Given the description of an element on the screen output the (x, y) to click on. 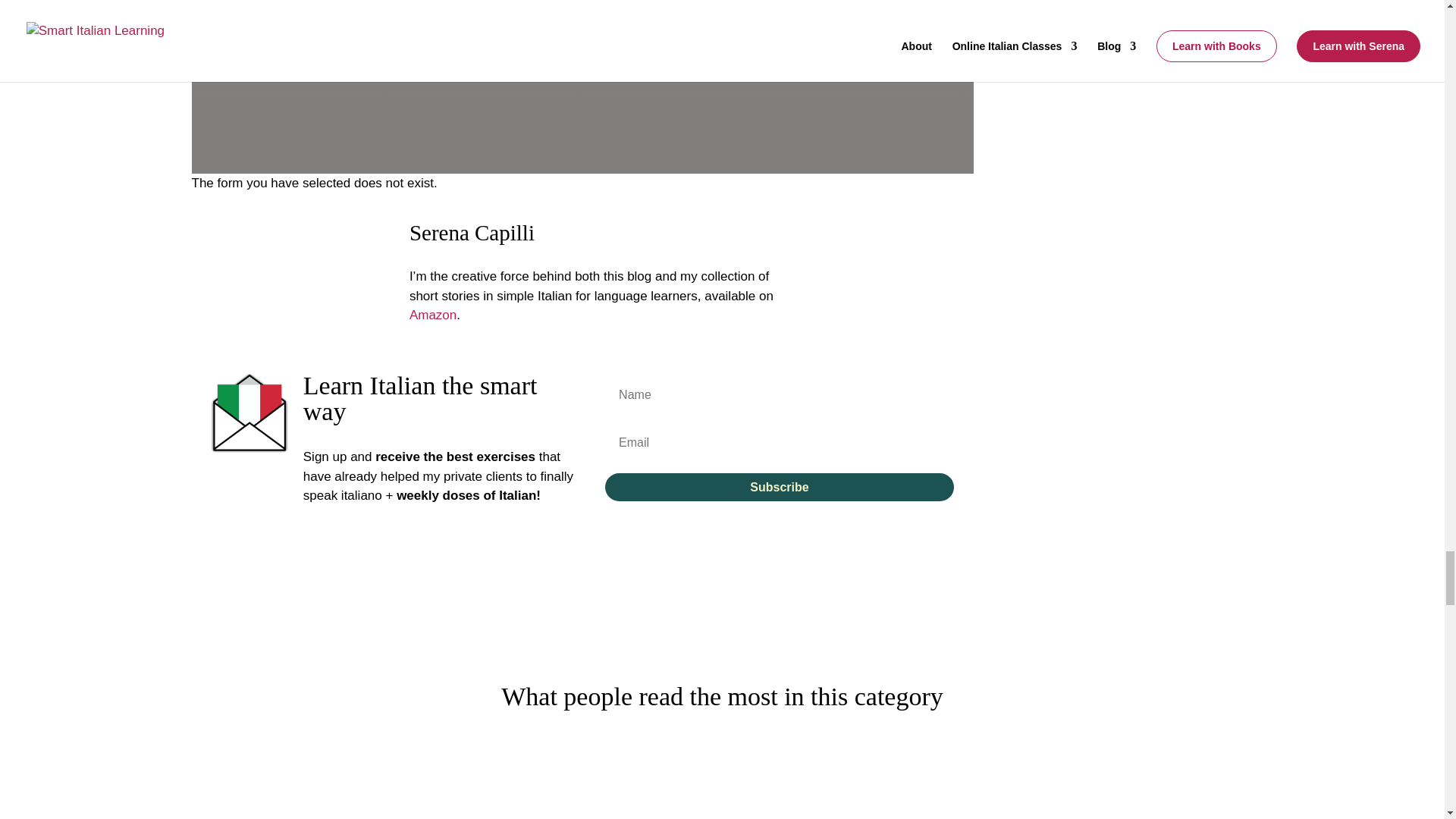
Amazon (433, 314)
Subscribe (780, 487)
